Given the description of an element on the screen output the (x, y) to click on. 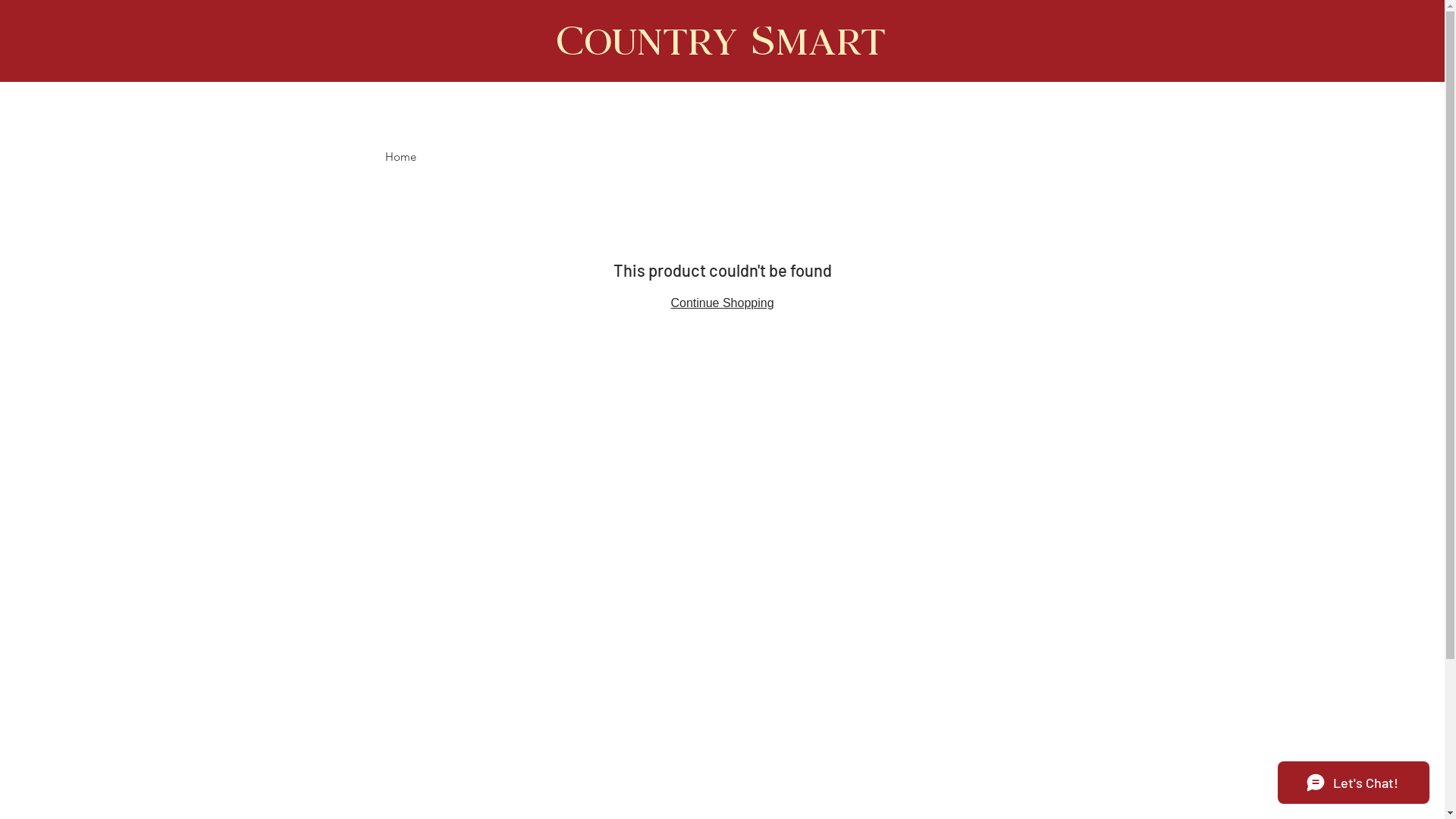
Continue Shopping Element type: text (721, 302)
Home Element type: text (400, 156)
